Given the description of an element on the screen output the (x, y) to click on. 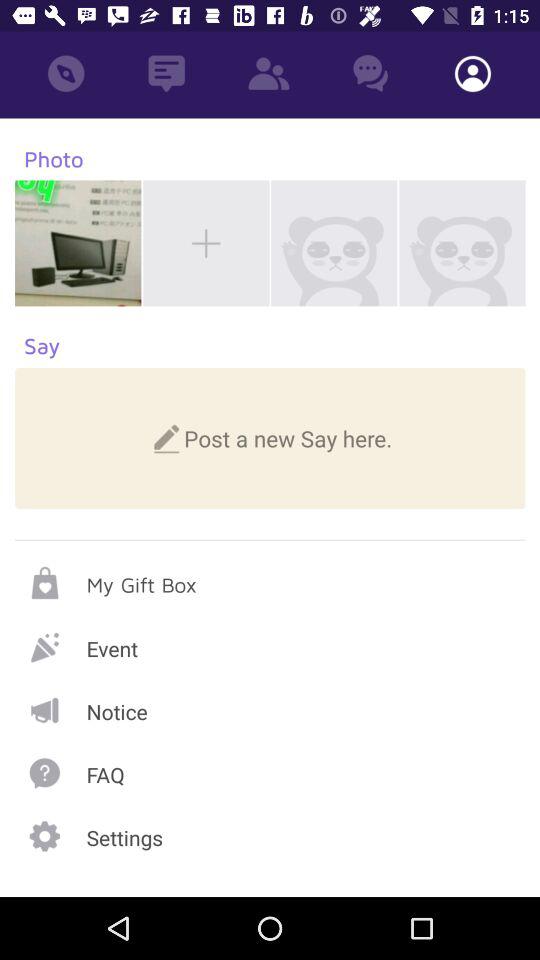
choose event (270, 646)
